Given the description of an element on the screen output the (x, y) to click on. 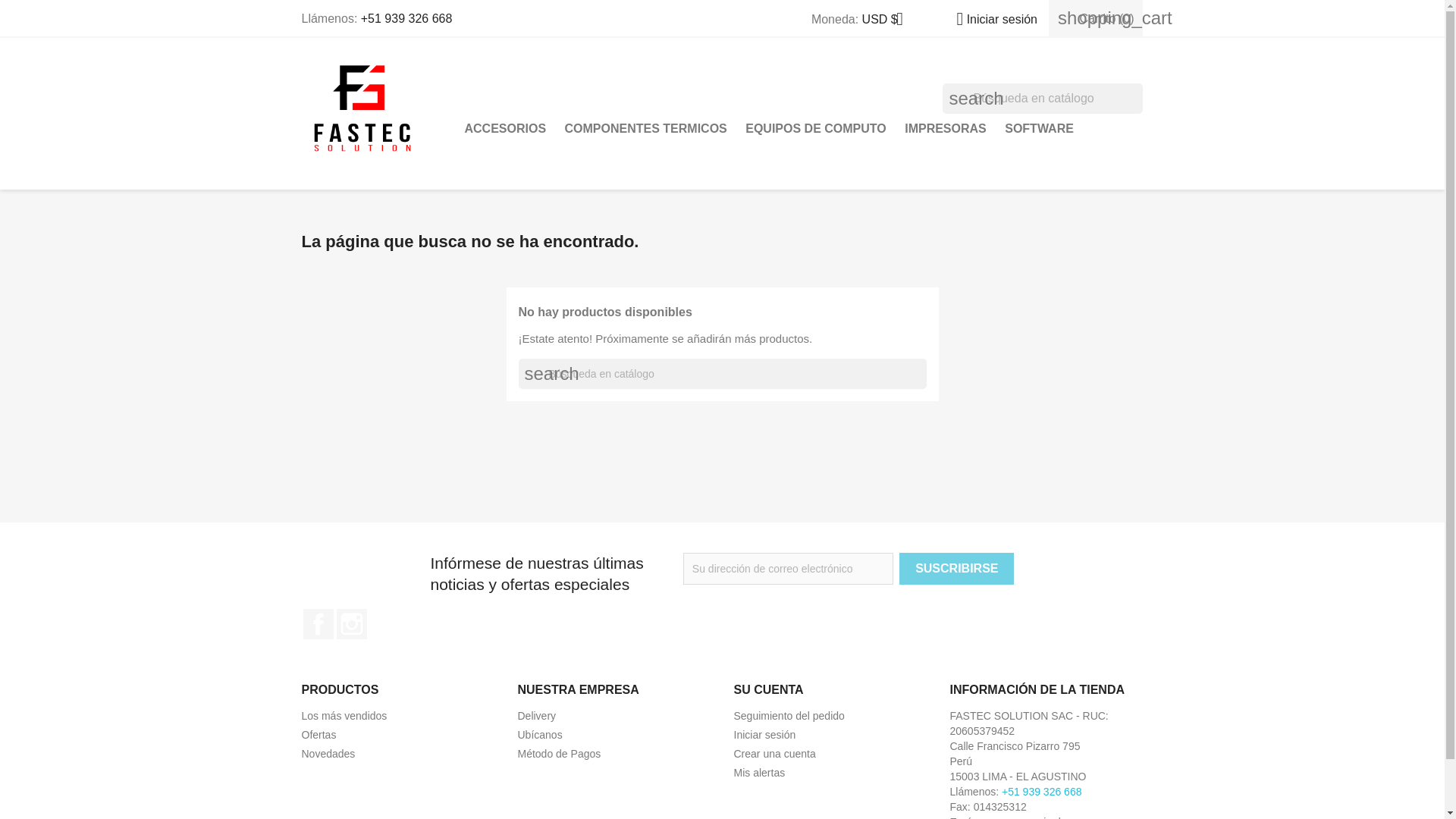
Instagram (351, 624)
Acceda a su cuenta de cliente (764, 734)
Novedades (328, 753)
Suscribirse (956, 568)
IMPRESORAS (945, 128)
Mis alertas (759, 772)
EQUIPOS DE COMPUTO (815, 128)
SOFTWARE (1039, 128)
Facebook (317, 624)
Seguimiento del pedido (788, 715)
